Given the description of an element on the screen output the (x, y) to click on. 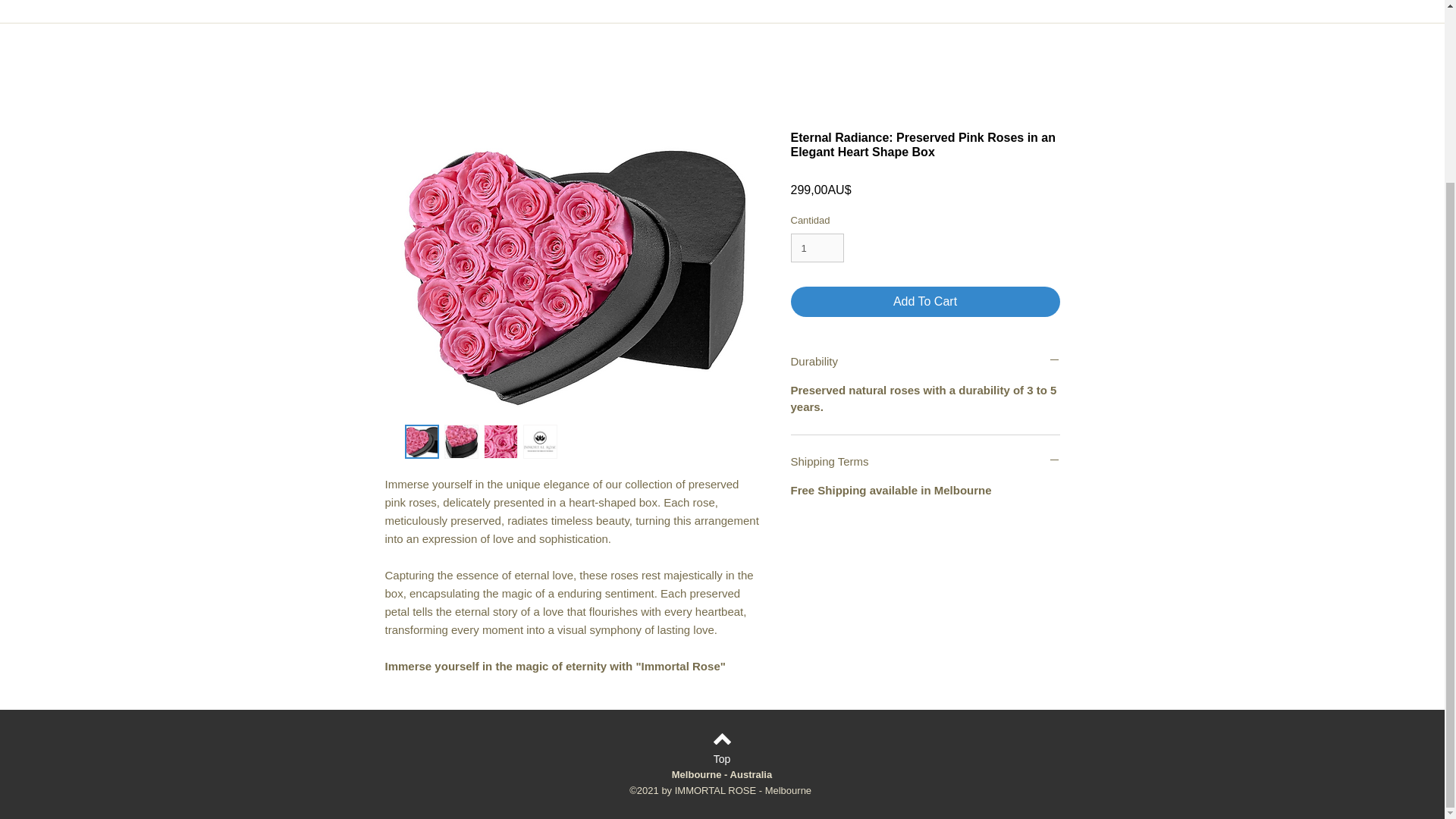
Shipping Terms (924, 461)
Add To Cart (924, 301)
1 (817, 247)
Durability (924, 360)
Top (721, 759)
